Given the description of an element on the screen output the (x, y) to click on. 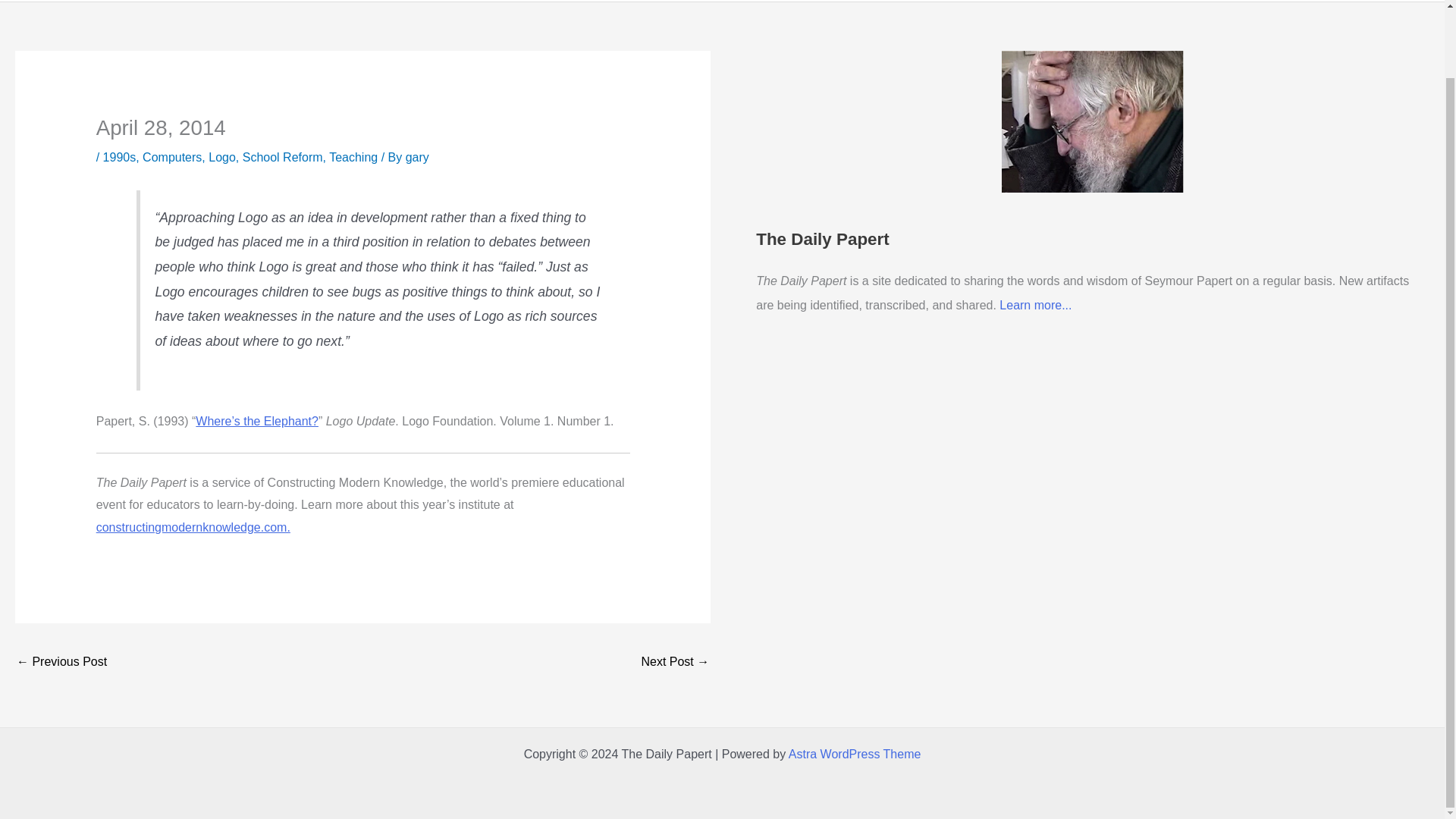
constructingmodernknowledge.com. (192, 526)
Logo (221, 156)
Computers (172, 156)
Constructing Modern Knowledge 2014 (192, 526)
View all posts by gary (417, 156)
gary (417, 156)
Complete article (256, 420)
1990s (119, 156)
Learn more... (1034, 305)
Teaching (353, 156)
Astra WordPress Theme (855, 753)
April 24, 2014 (61, 663)
School Reform (283, 156)
April 29, 2014 (674, 663)
